Given the description of an element on the screen output the (x, y) to click on. 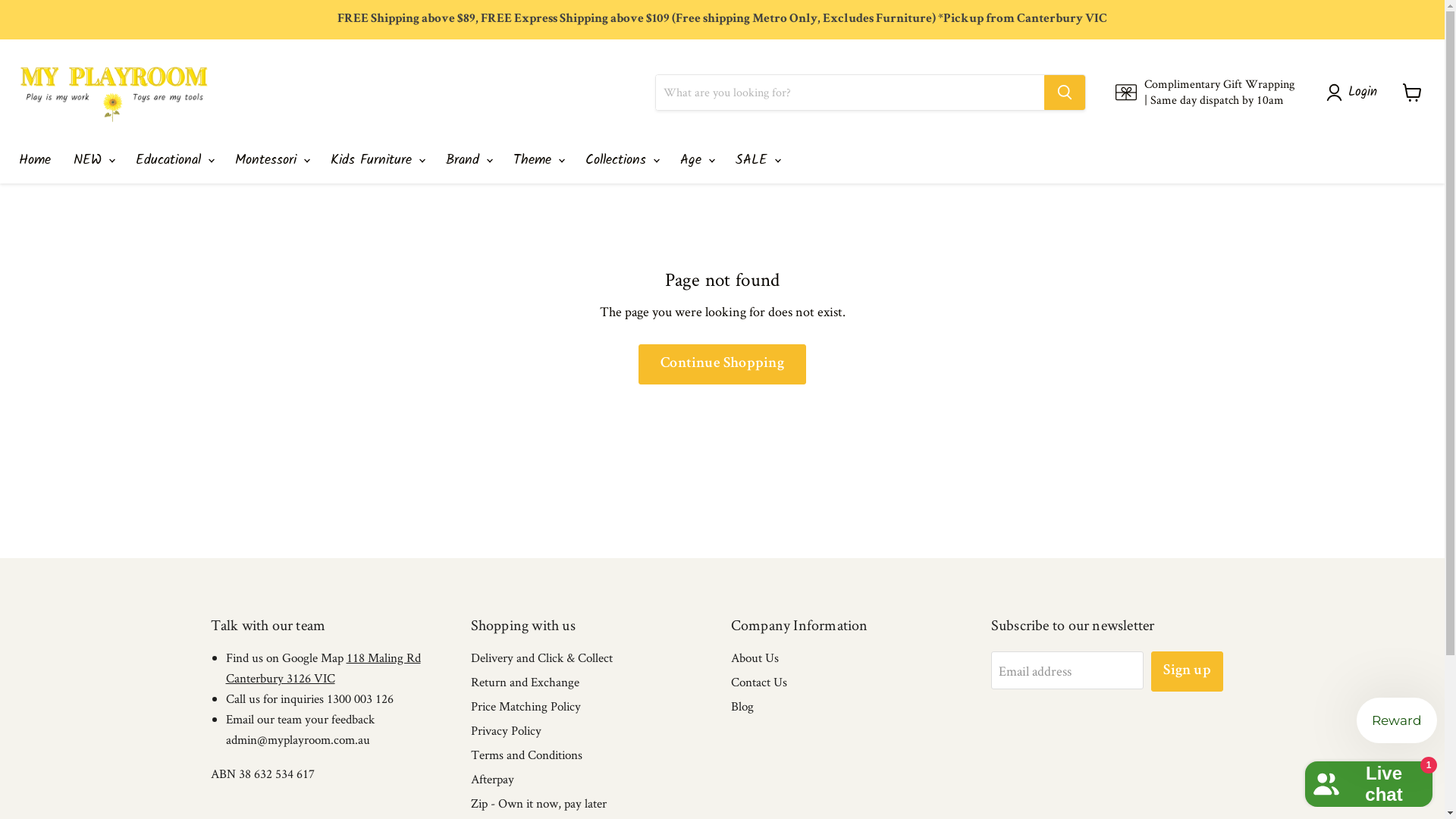
Delivery and Click & Collect Element type: text (541, 657)
Login Element type: text (1354, 92)
Home Element type: text (34, 160)
Continue Shopping Element type: text (721, 364)
118 Maling Rd Canterbury 3126 VIC Element type: text (322, 667)
About Us Element type: text (754, 657)
Afterpay Element type: text (492, 778)
Terms and Conditions Element type: text (526, 754)
Contact Us Element type: text (759, 681)
View cart Element type: text (1412, 92)
Privacy Policy Element type: text (505, 729)
Complimentary Gift Wrapping | Same day dispatch by 10am Element type: text (1205, 91)
Shopify online store chat Element type: hover (1368, 780)
Zip - Own it now, pay later Element type: text (538, 802)
Price Matching Policy Element type: text (525, 705)
Sign up Element type: text (1186, 671)
Return and Exchange Element type: text (524, 681)
Reward Element type: text (1396, 720)
Blog Element type: text (742, 705)
